Given the description of an element on the screen output the (x, y) to click on. 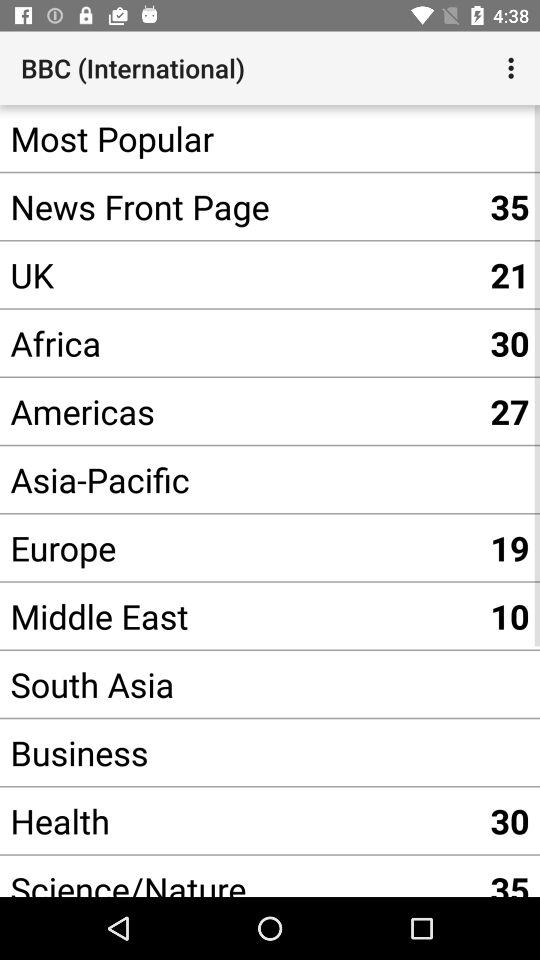
choose the item below 30 item (240, 411)
